Given the description of an element on the screen output the (x, y) to click on. 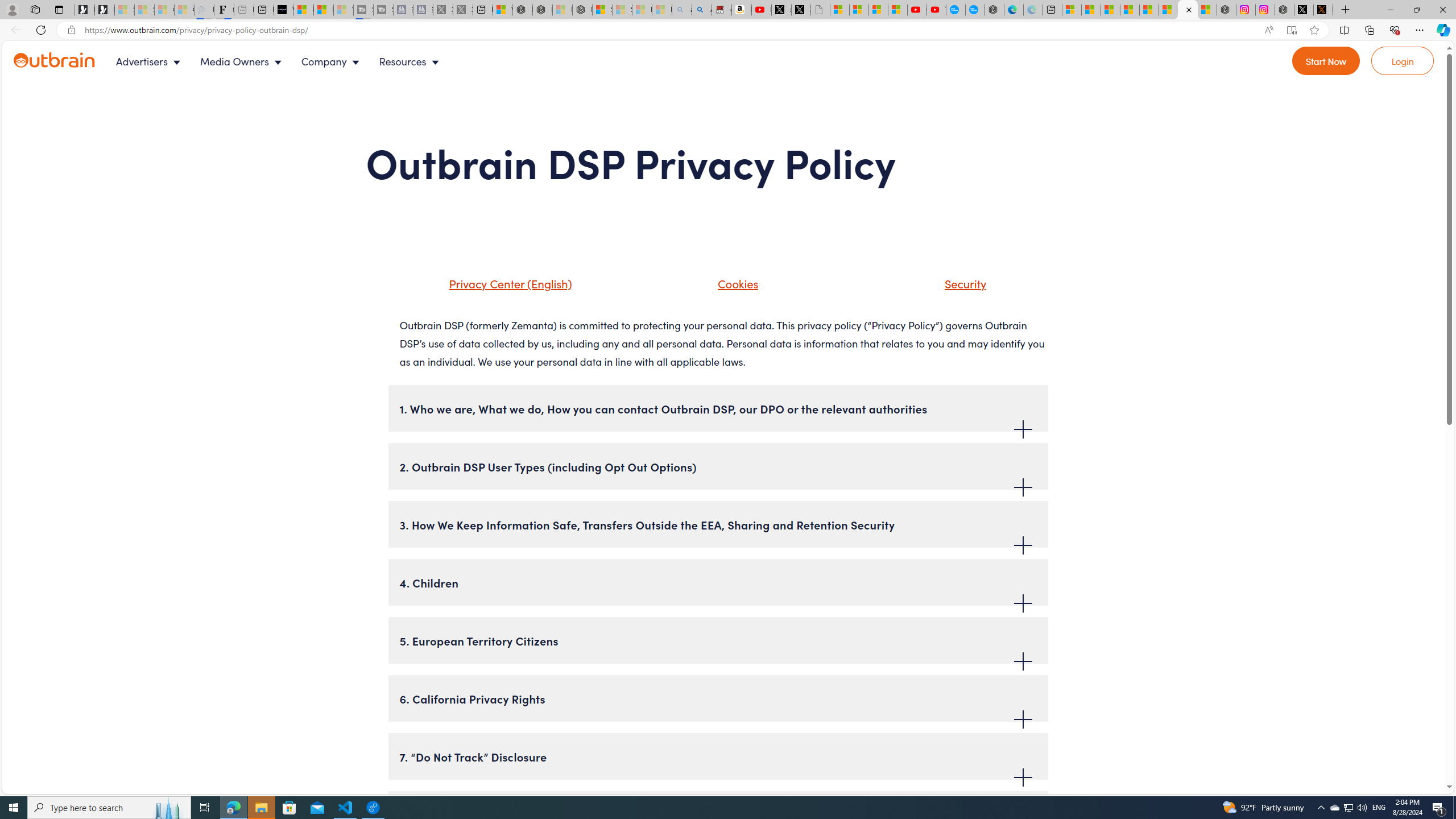
Enter Immersive Reader (F9) (1291, 29)
